Given the description of an element on the screen output the (x, y) to click on. 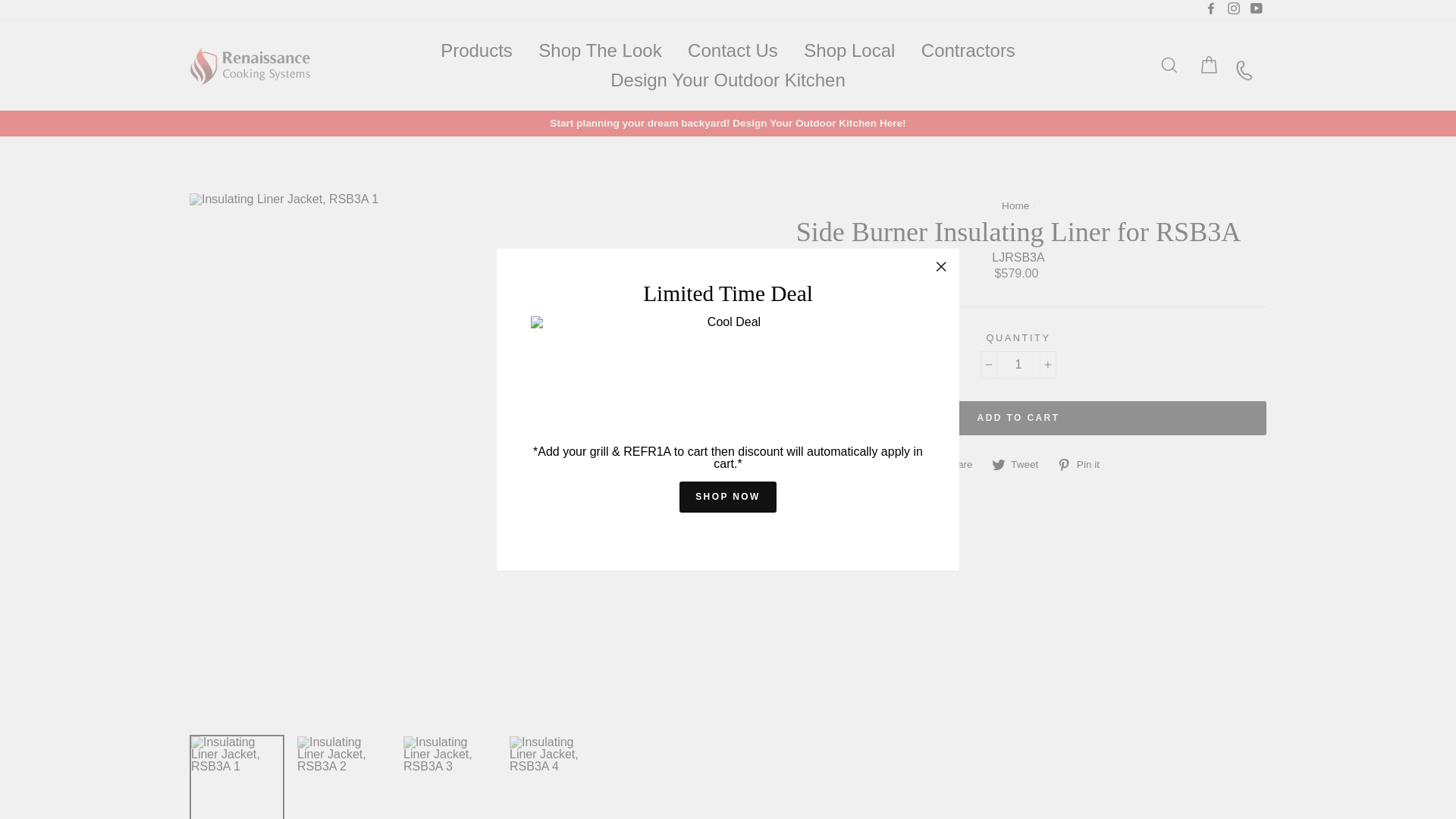
Share on Facebook (955, 464)
Back to the frontpage (1015, 205)
1 (1018, 364)
Tweet on Twitter (1020, 464)
RCS Gas Grills on Instagram (1233, 9)
RCS Gas Grills on Facebook (1211, 9)
Pin on Pinterest (1083, 464)
RCS Gas Grills on YouTube (1256, 9)
